Given the description of an element on the screen output the (x, y) to click on. 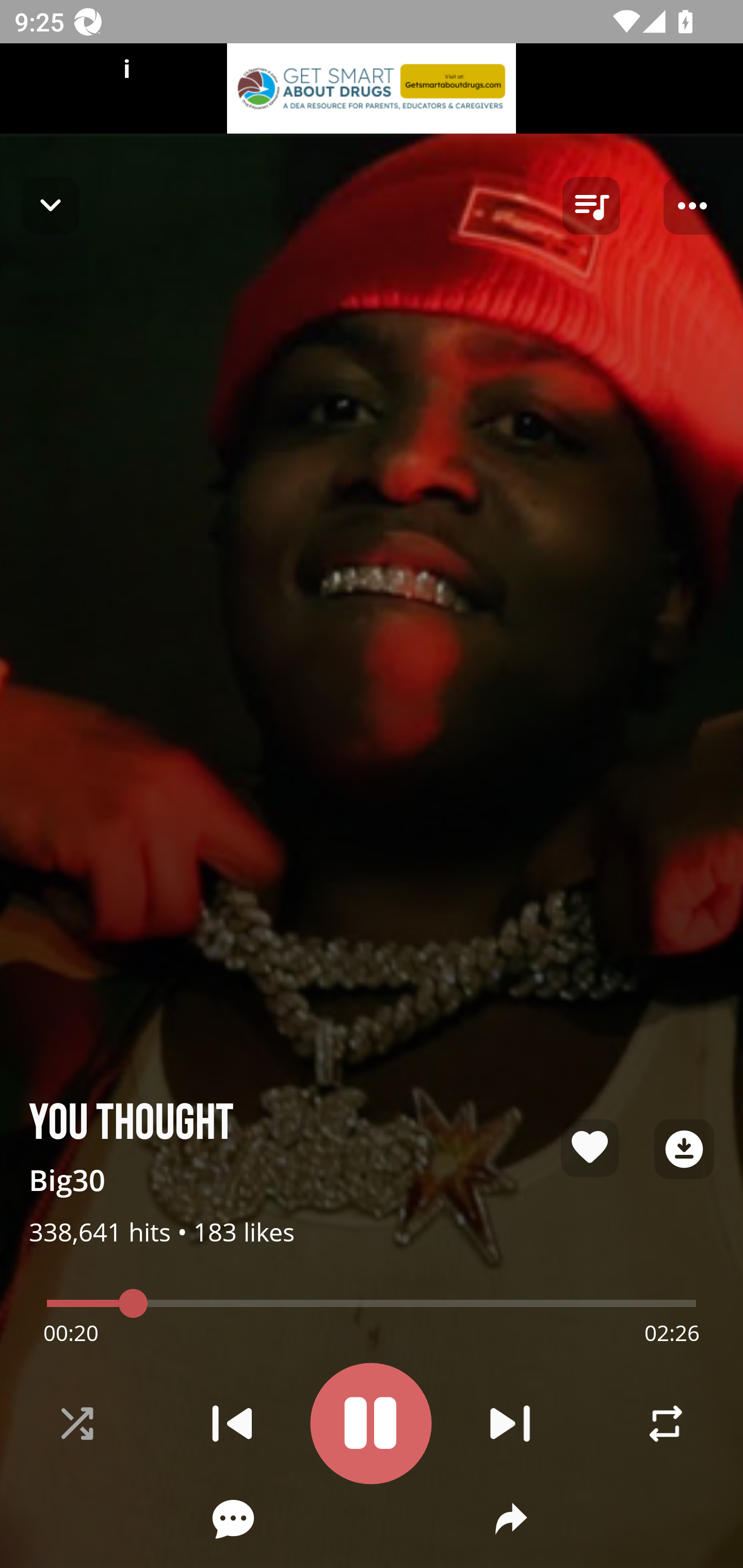
Navigate up (50, 205)
queue (590, 206)
Player options (692, 206)
